Given the description of an element on the screen output the (x, y) to click on. 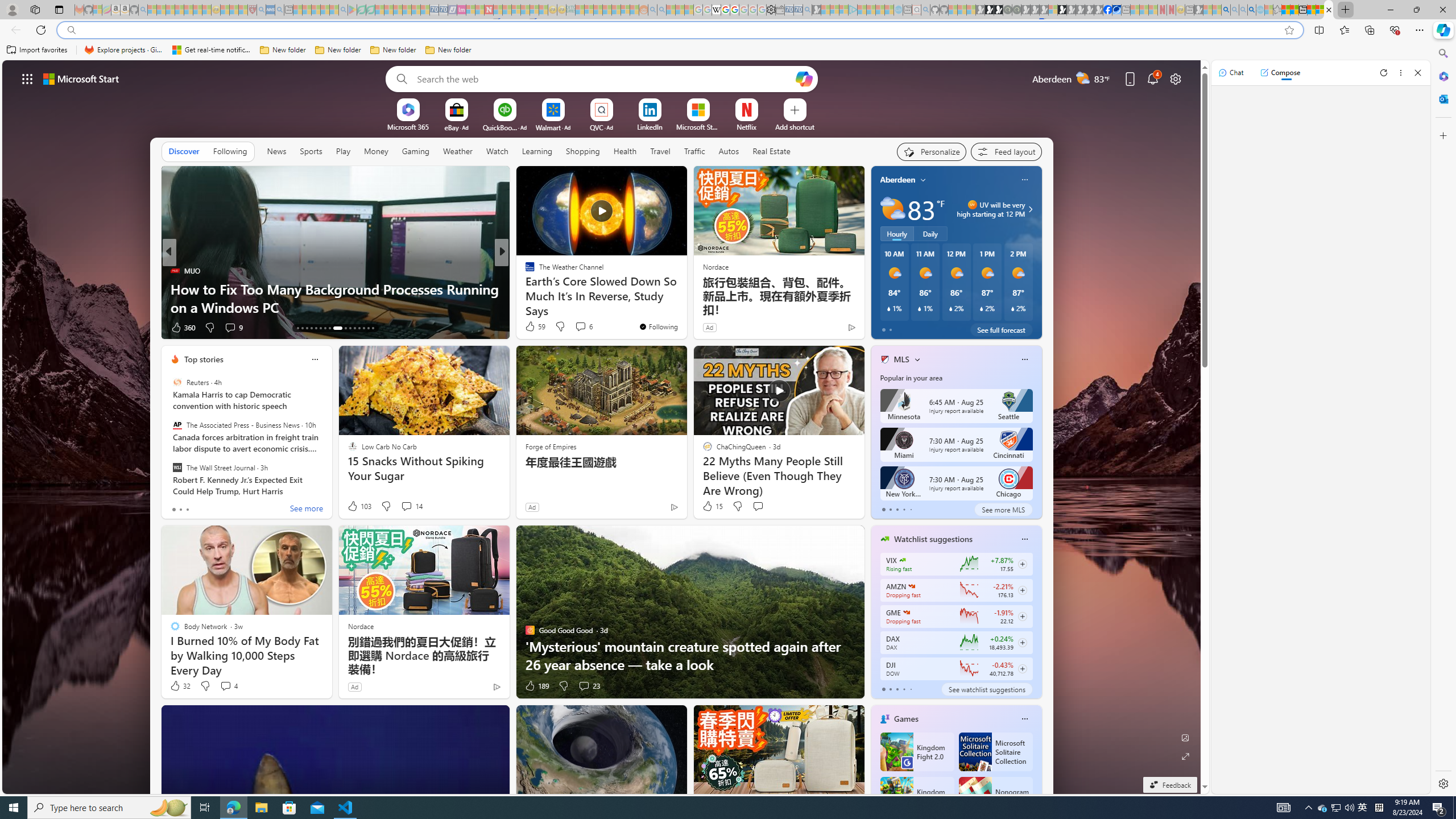
tab-0 (882, 689)
tab-4 (910, 689)
Class: icon-img (1024, 718)
Autos (728, 151)
